Given the description of an element on the screen output the (x, y) to click on. 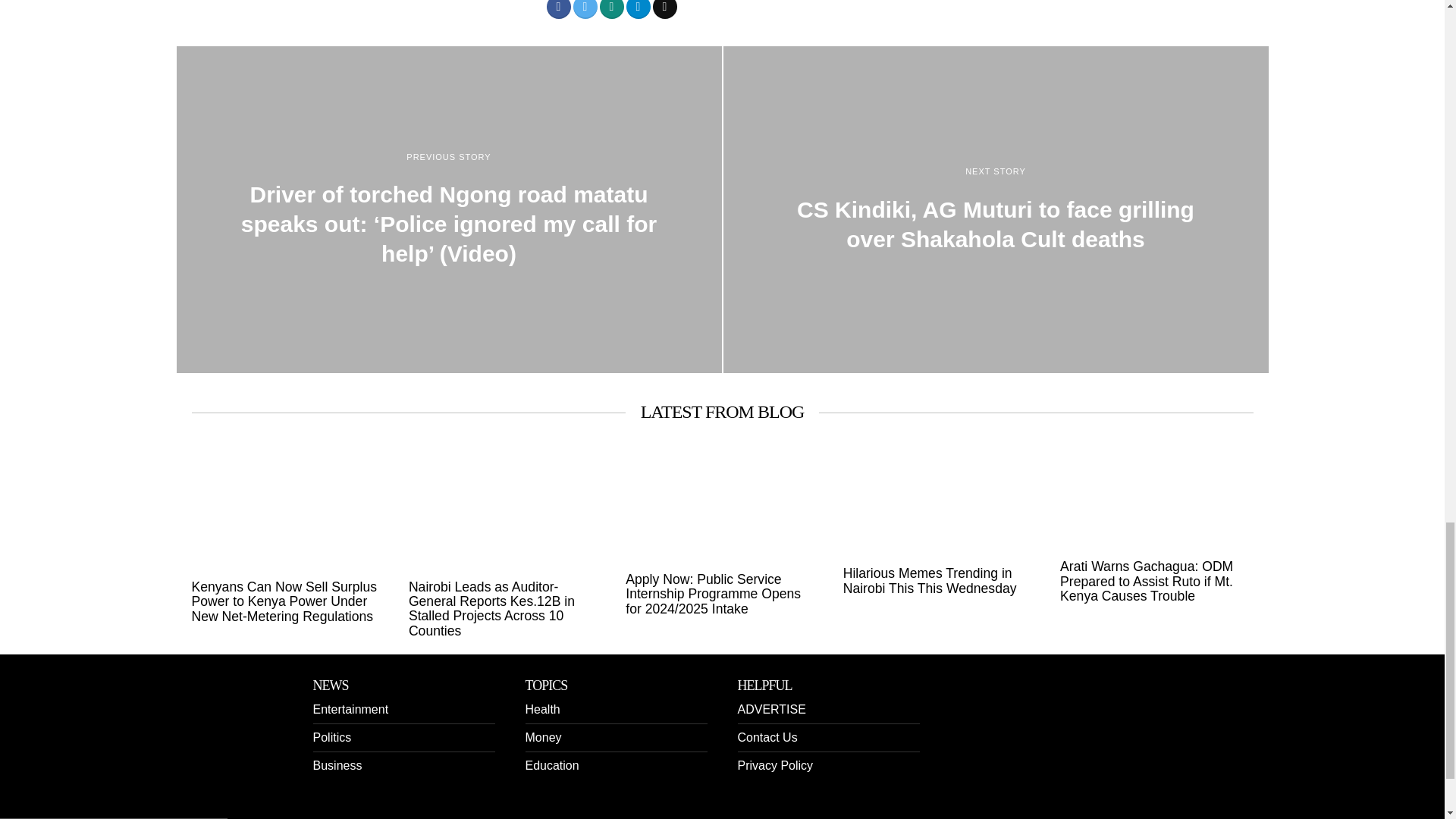
Hilarious Memes Trending in Nairobi This This Wednesday (939, 581)
Politics (331, 737)
ADVERTISE (770, 708)
Entertainment (350, 708)
Money (542, 737)
Education (551, 765)
Business (337, 765)
